Given the description of an element on the screen output the (x, y) to click on. 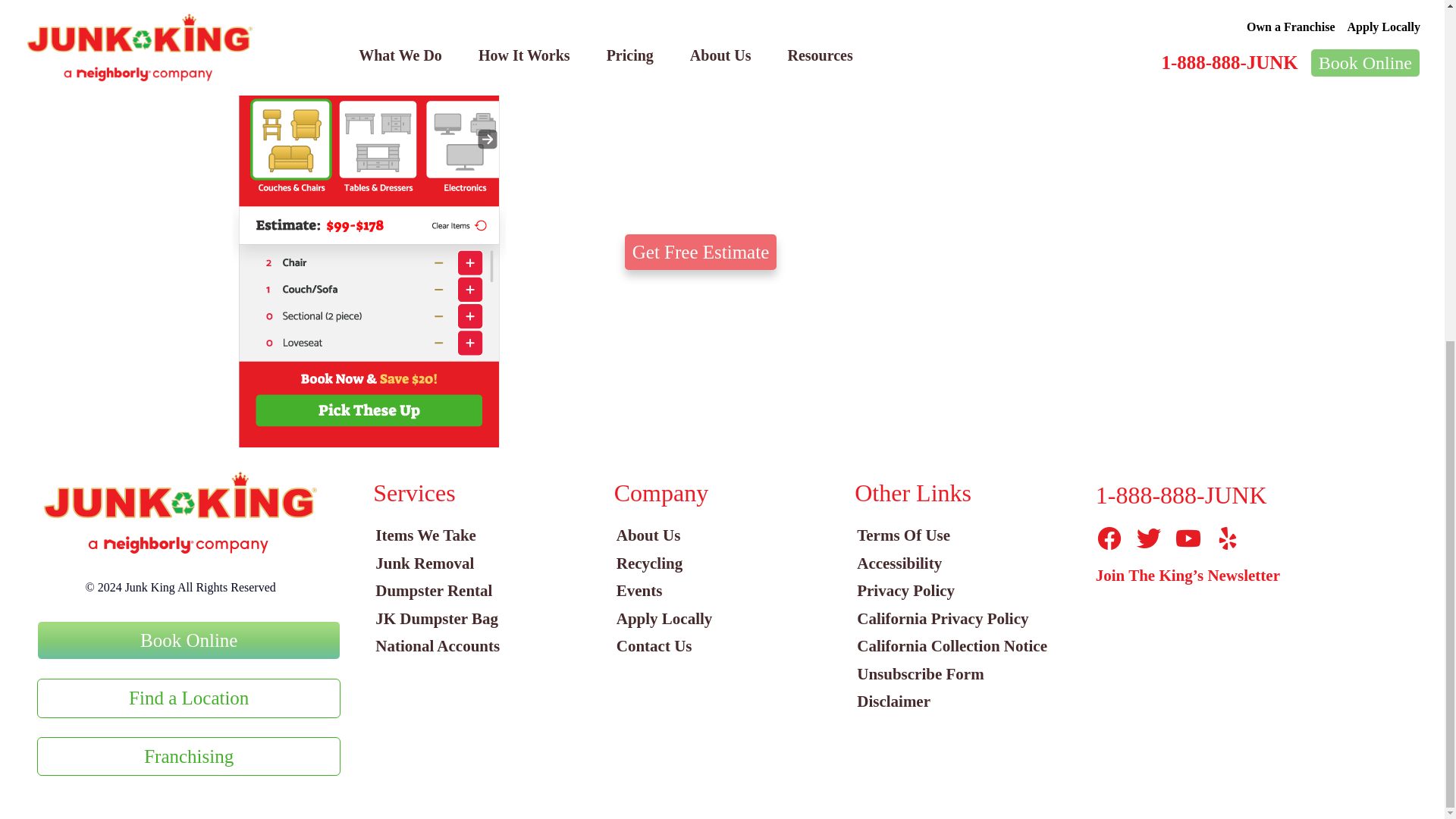
phone (368, 223)
logo (180, 512)
social icon (1109, 538)
social icon (1188, 538)
social icon (1148, 538)
